Given the description of an element on the screen output the (x, y) to click on. 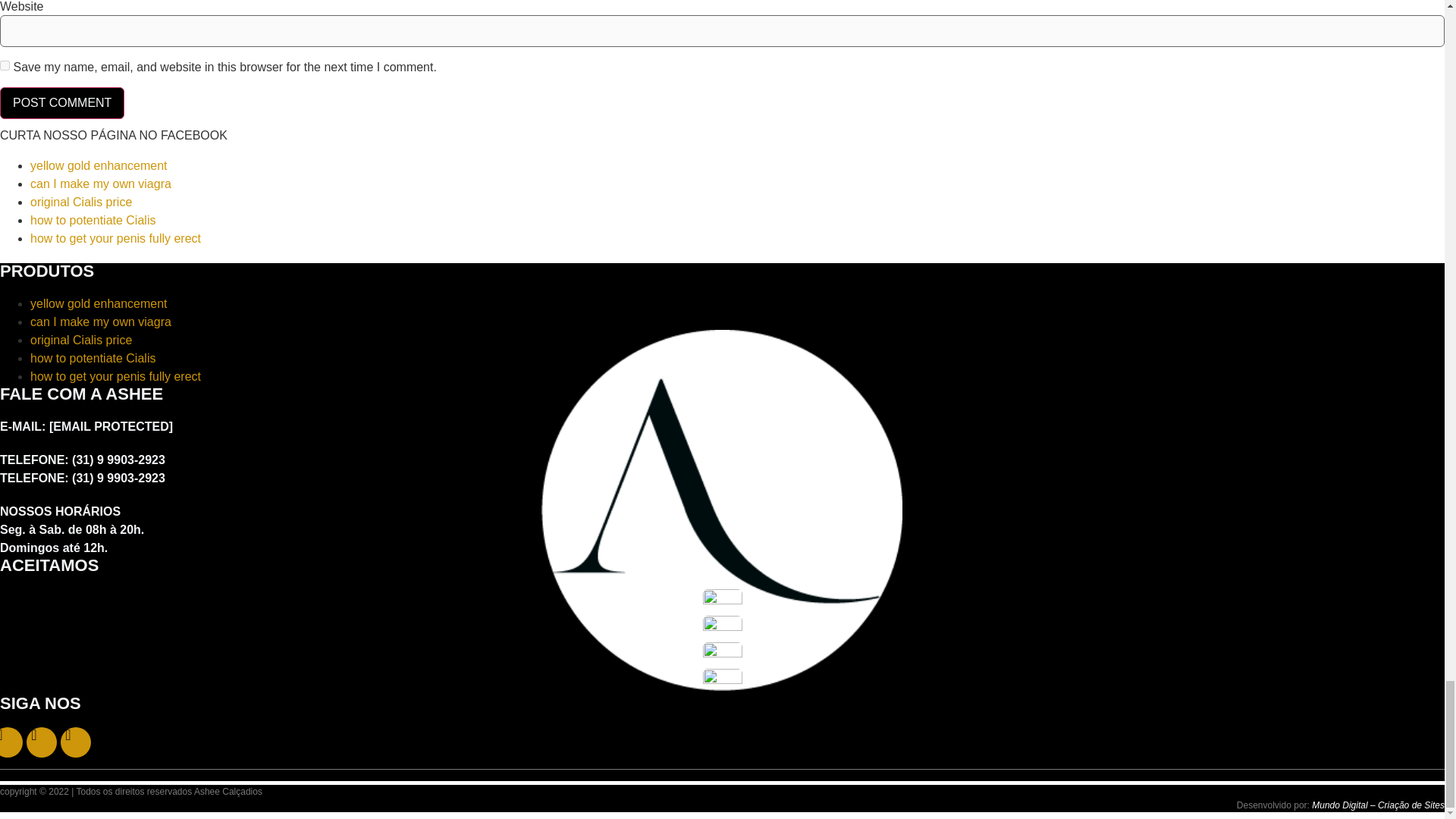
how to get your penis fully erect (115, 376)
yellow gold enhancement (98, 164)
can I make my own viagra (100, 183)
how to potentiate Cialis (92, 358)
original Cialis price (81, 339)
how to potentiate Cialis (92, 219)
can I make my own viagra (100, 321)
how to get your penis fully erect (115, 237)
original Cialis price (81, 201)
yellow gold enhancement (98, 303)
Post Comment (61, 102)
yes (5, 65)
Post Comment (61, 102)
